Given the description of an element on the screen output the (x, y) to click on. 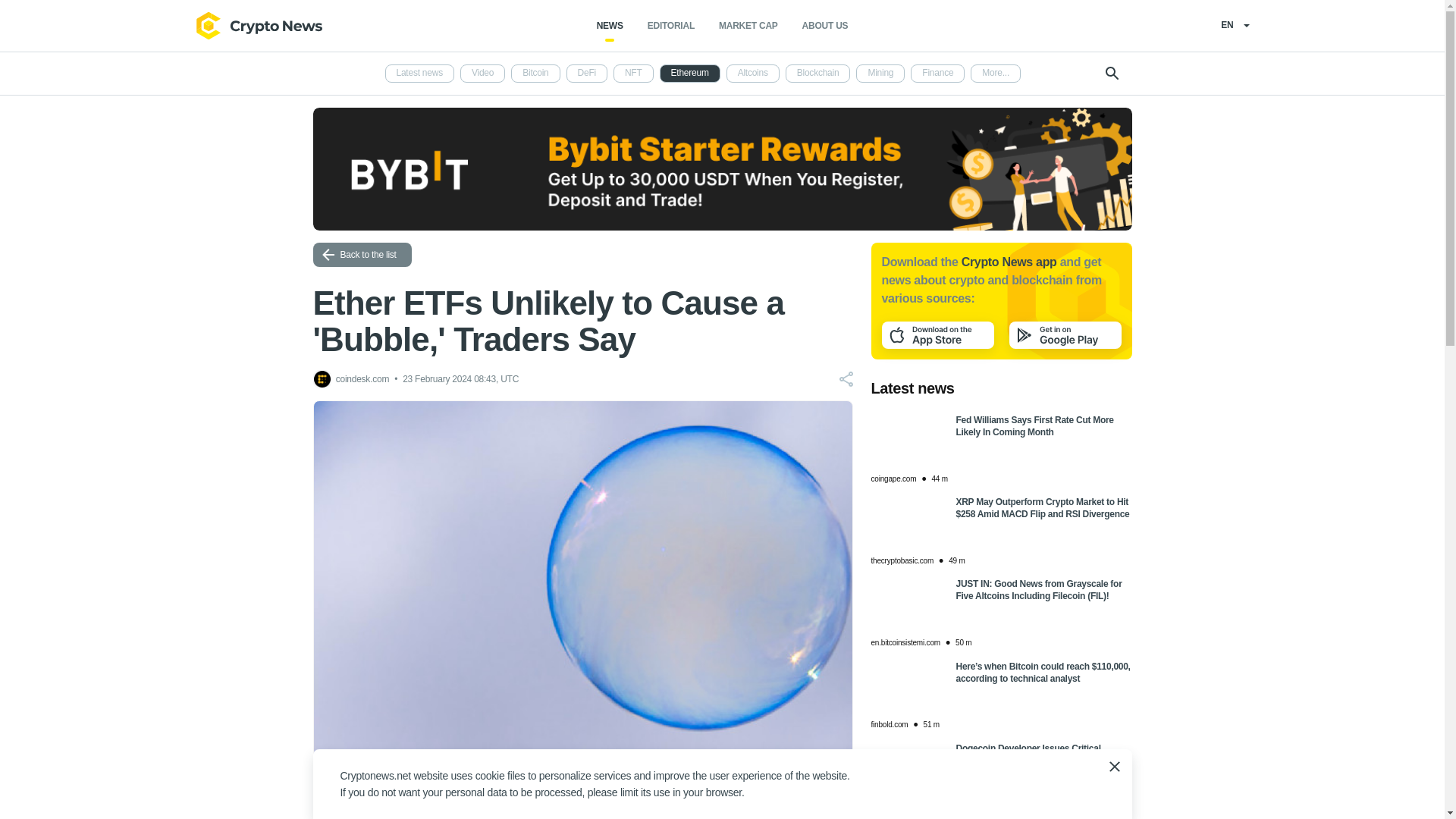
Mining (880, 73)
Bitcoin (535, 73)
NEWS (609, 25)
ABOUT US (825, 25)
MARKET CAP (748, 25)
DeFi (586, 73)
Latest news (419, 73)
Video (482, 73)
Altcoins (752, 73)
EDITORIAL (670, 25)
Finance (937, 73)
NFT (632, 73)
Blockchain (818, 73)
